Given the description of an element on the screen output the (x, y) to click on. 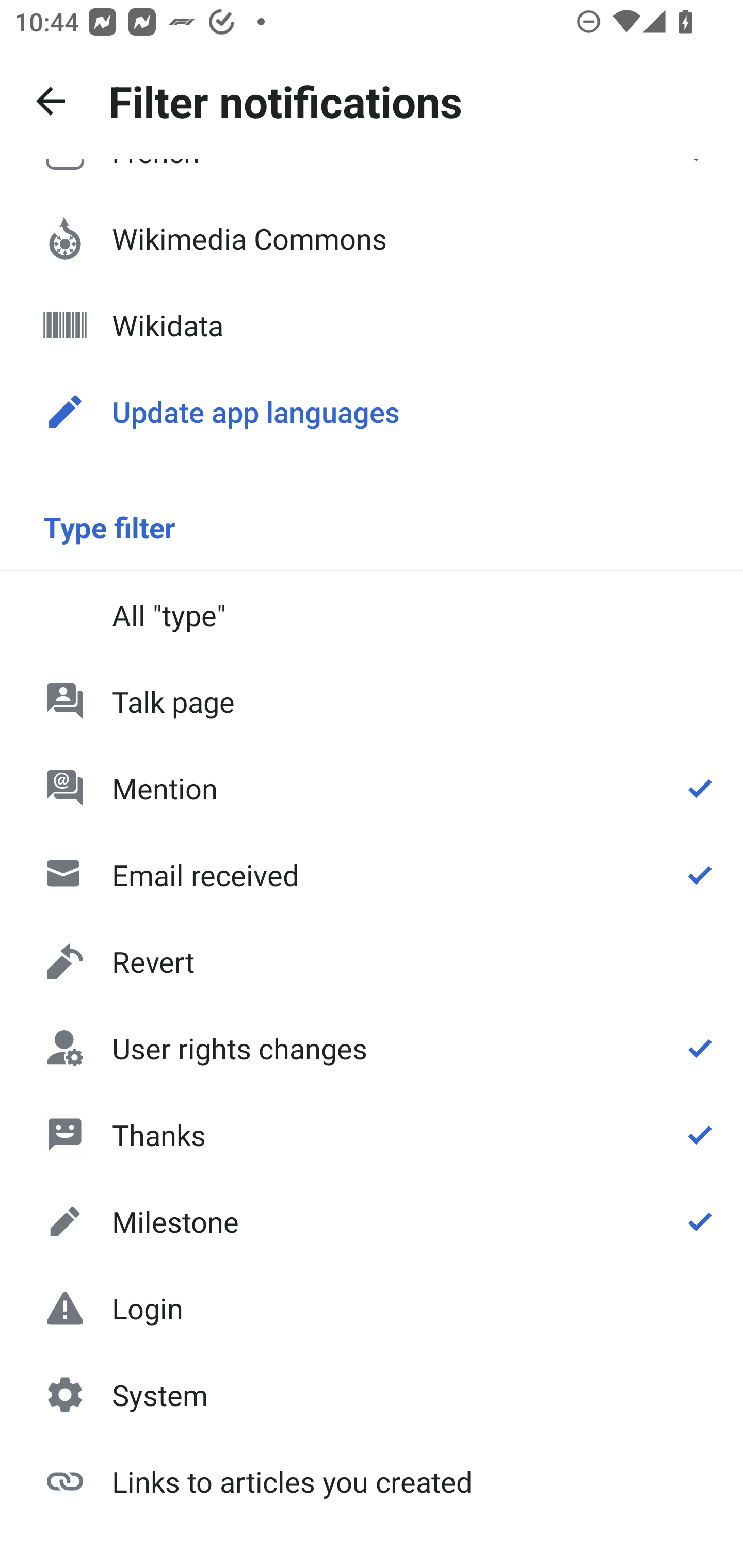
Navigate up (50, 101)
Wikimedia Commons (371, 238)
Wikidata (371, 325)
Update app languages (371, 411)
All "type" (371, 614)
Talk page (371, 701)
Mention (371, 787)
Email received (371, 874)
Revert (371, 961)
User rights changes (371, 1048)
Thanks (371, 1134)
Milestone (371, 1221)
Login (371, 1308)
System (371, 1394)
Links to articles you created (371, 1480)
